Given the description of an element on the screen output the (x, y) to click on. 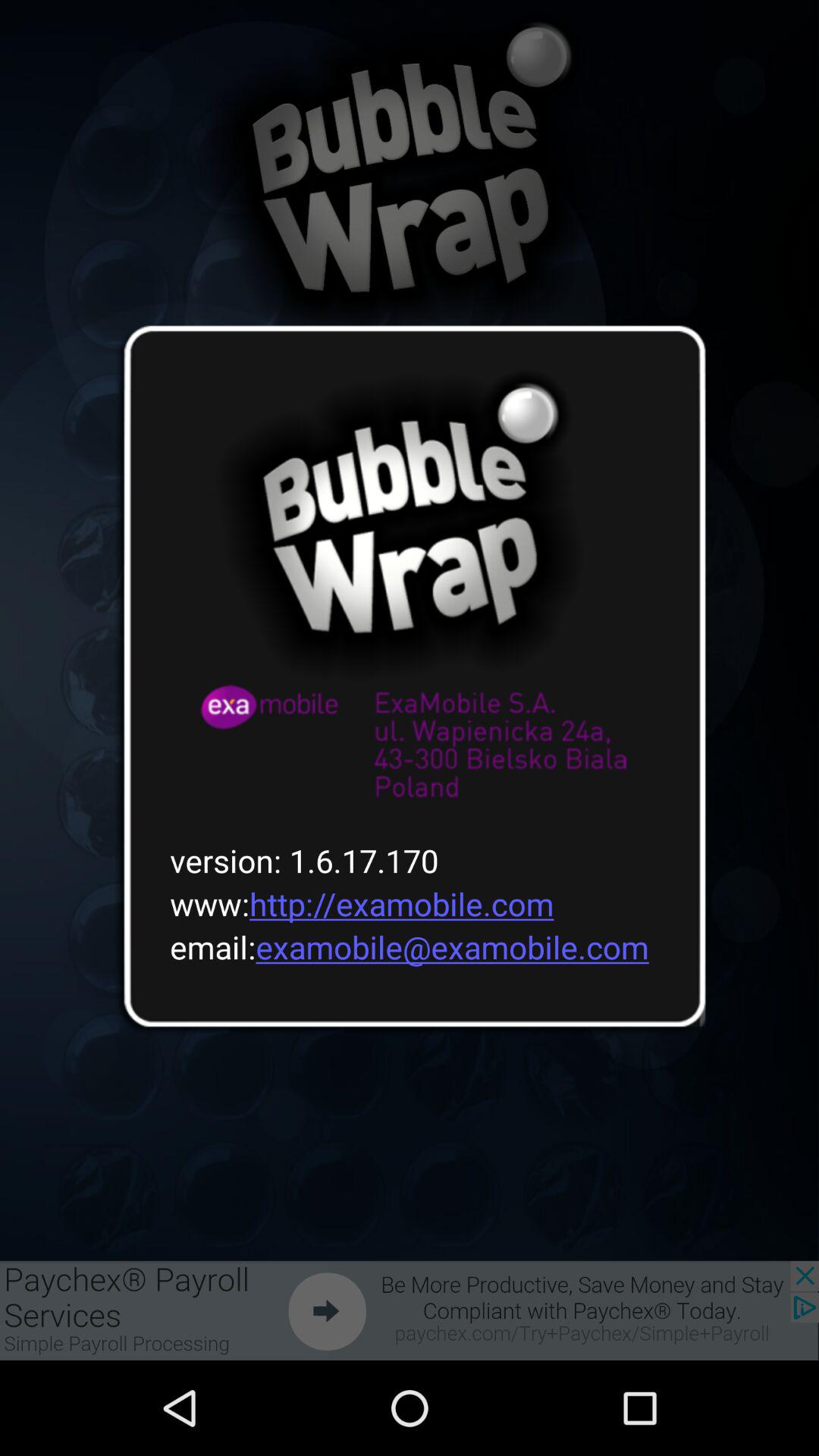
choose the www http examobile icon (351, 903)
